Given the description of an element on the screen output the (x, y) to click on. 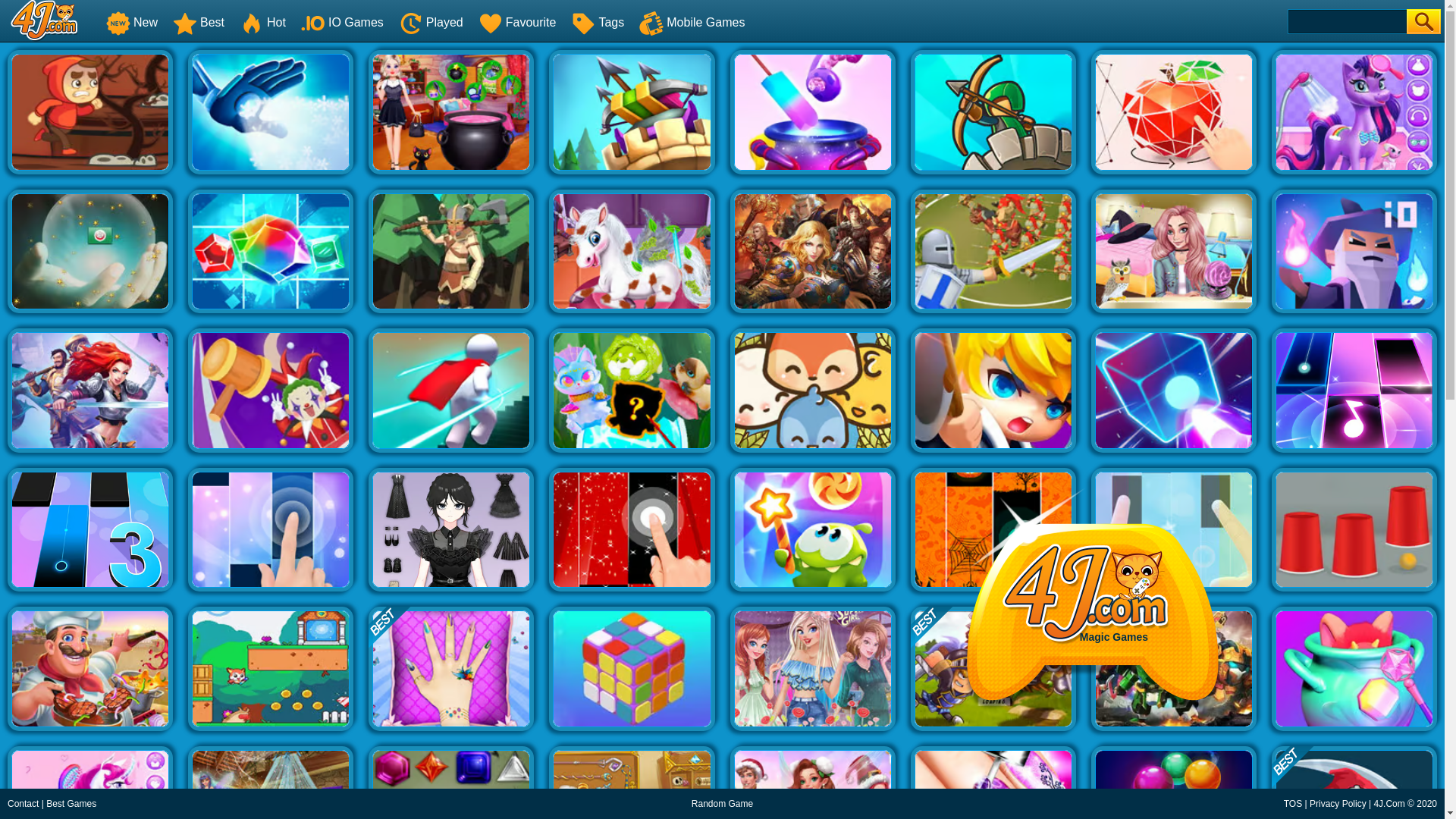
Best (198, 21)
Played (430, 21)
IO Games (342, 21)
Hot (262, 21)
Mobile Games (691, 21)
Favourite (517, 21)
New (131, 21)
Tags (597, 21)
